Given the description of an element on the screen output the (x, y) to click on. 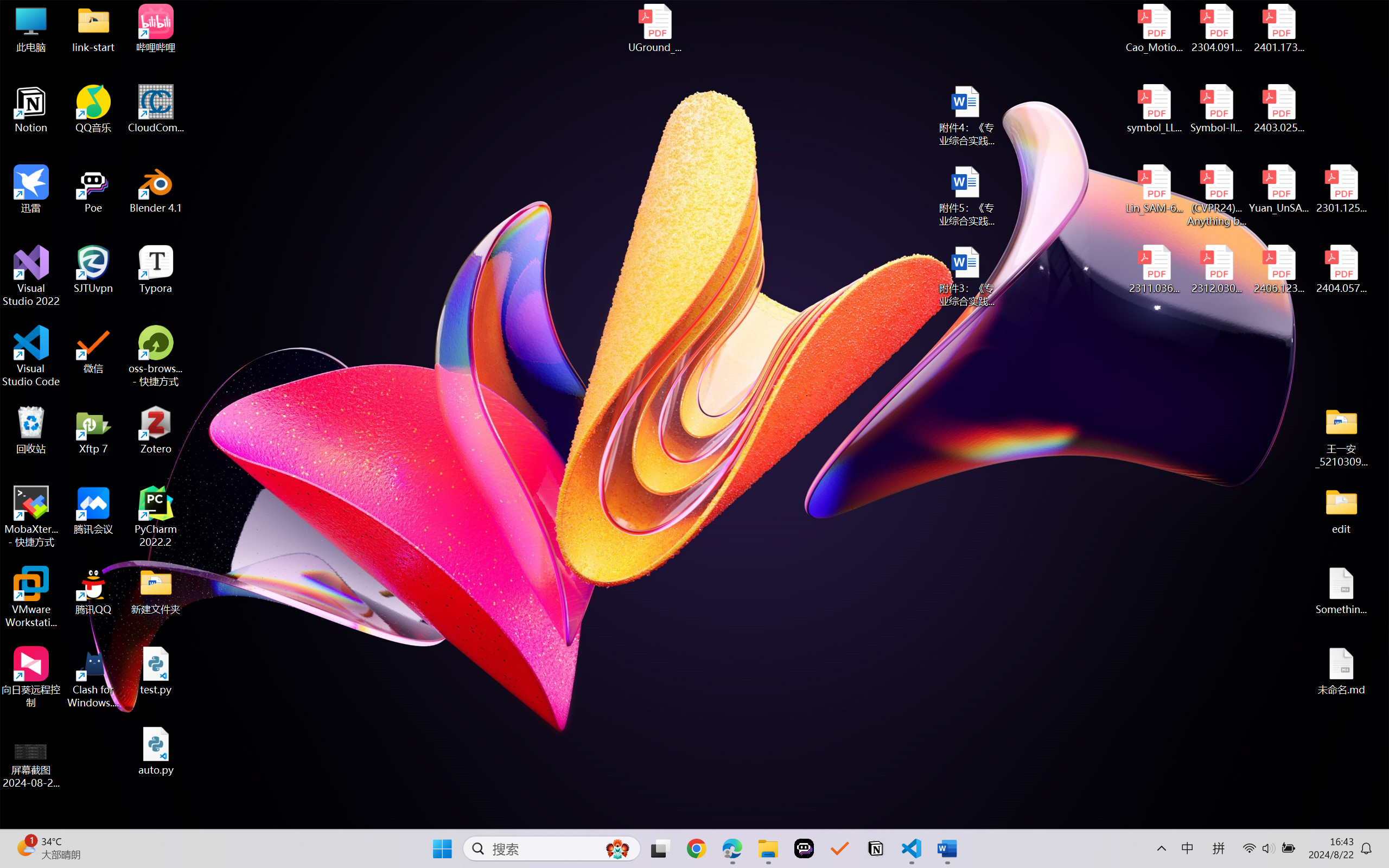
Google Chrome (696, 848)
test.py (156, 670)
Symbol-llm-v2.pdf (1216, 109)
2304.09121v3.pdf (1216, 28)
2301.12597v3.pdf (1340, 189)
2312.03032v2.pdf (1216, 269)
